Given the description of an element on the screen output the (x, y) to click on. 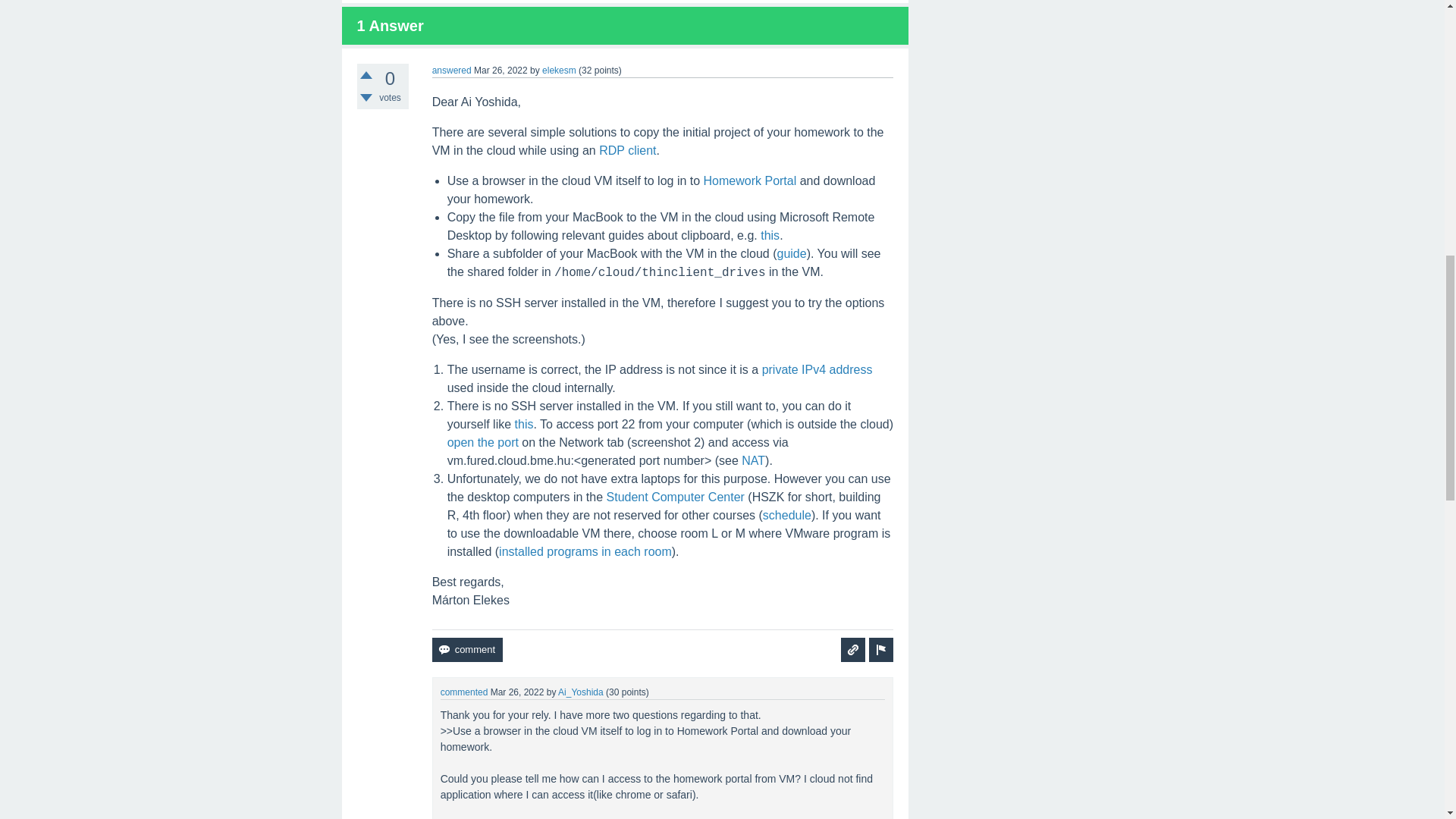
RDP client (627, 150)
Click to vote up (365, 74)
ask related question (852, 649)
guide (791, 253)
Add a comment on this answer (467, 649)
private IPv4 address (816, 369)
flag (881, 649)
Ask a new question relating to this answer (852, 649)
comment (467, 649)
Click to vote down (365, 97)
answered (451, 70)
elekesm (558, 70)
Homework Portal (749, 180)
this (769, 235)
Flag this answer as spam or inappropriate (881, 649)
